Given the description of an element on the screen output the (x, y) to click on. 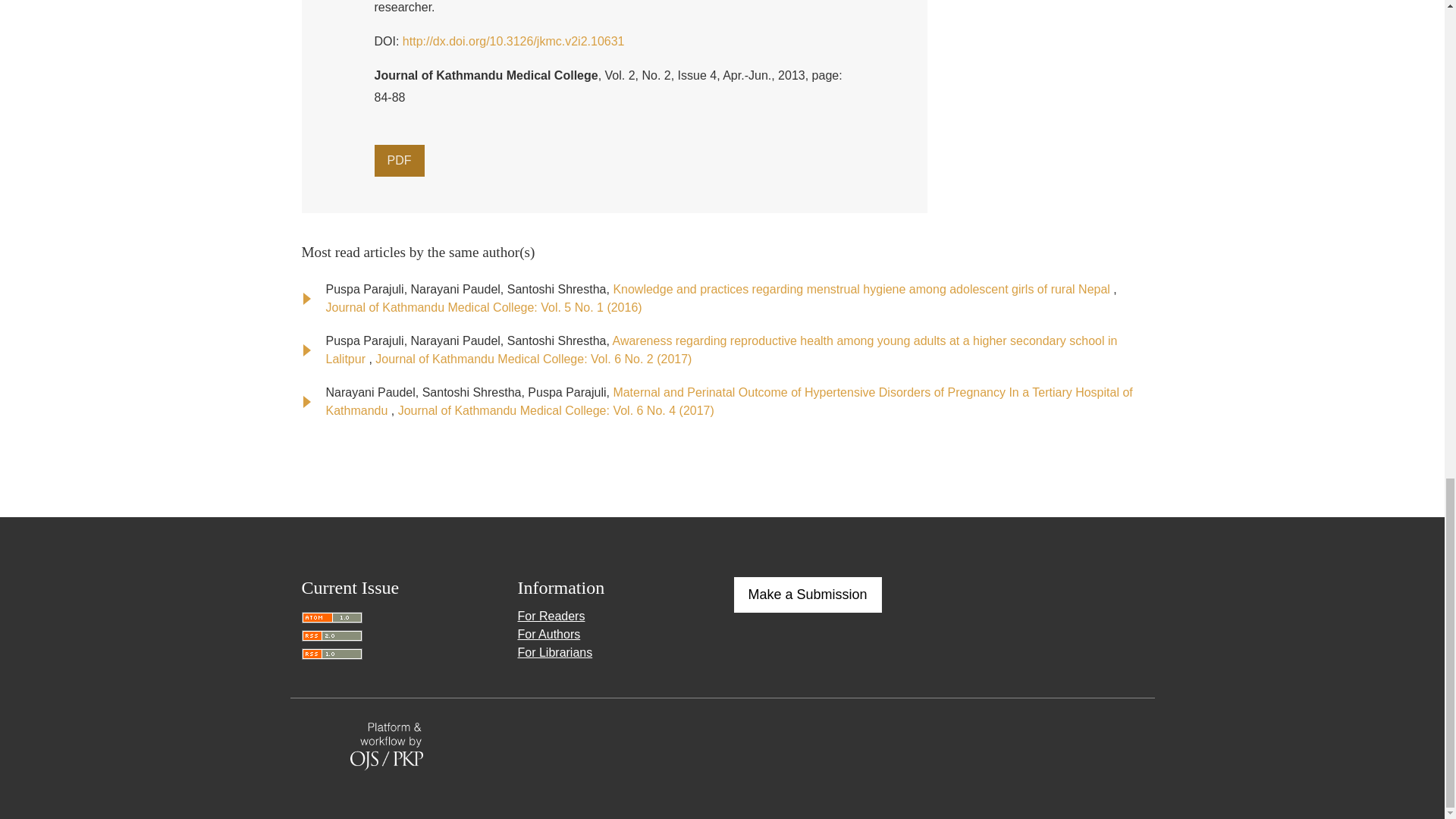
PDF (399, 160)
